Given the description of an element on the screen output the (x, y) to click on. 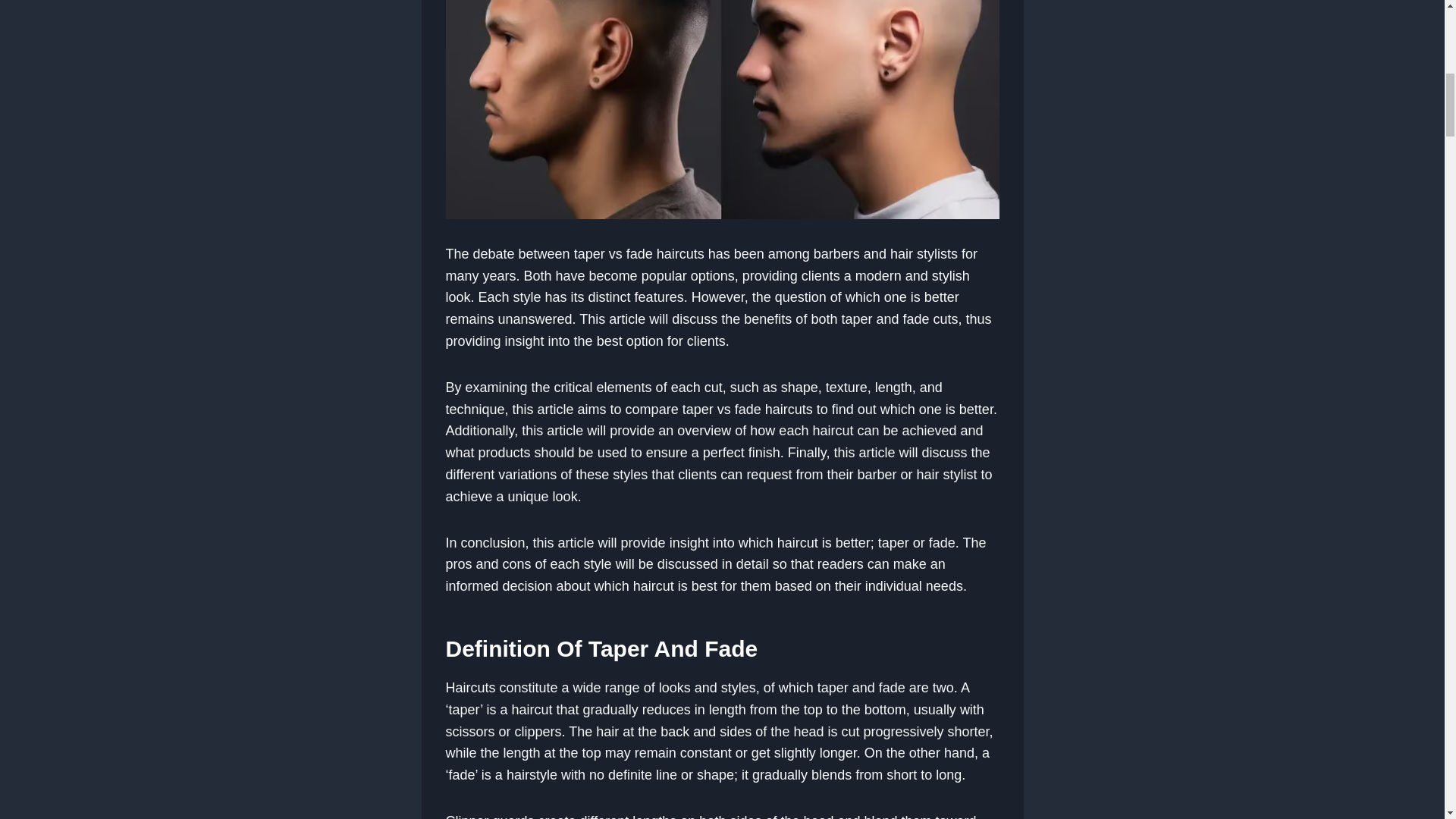
Taper Vs Fade: Which Is Better? 1 (721, 109)
